Given the description of an element on the screen output the (x, y) to click on. 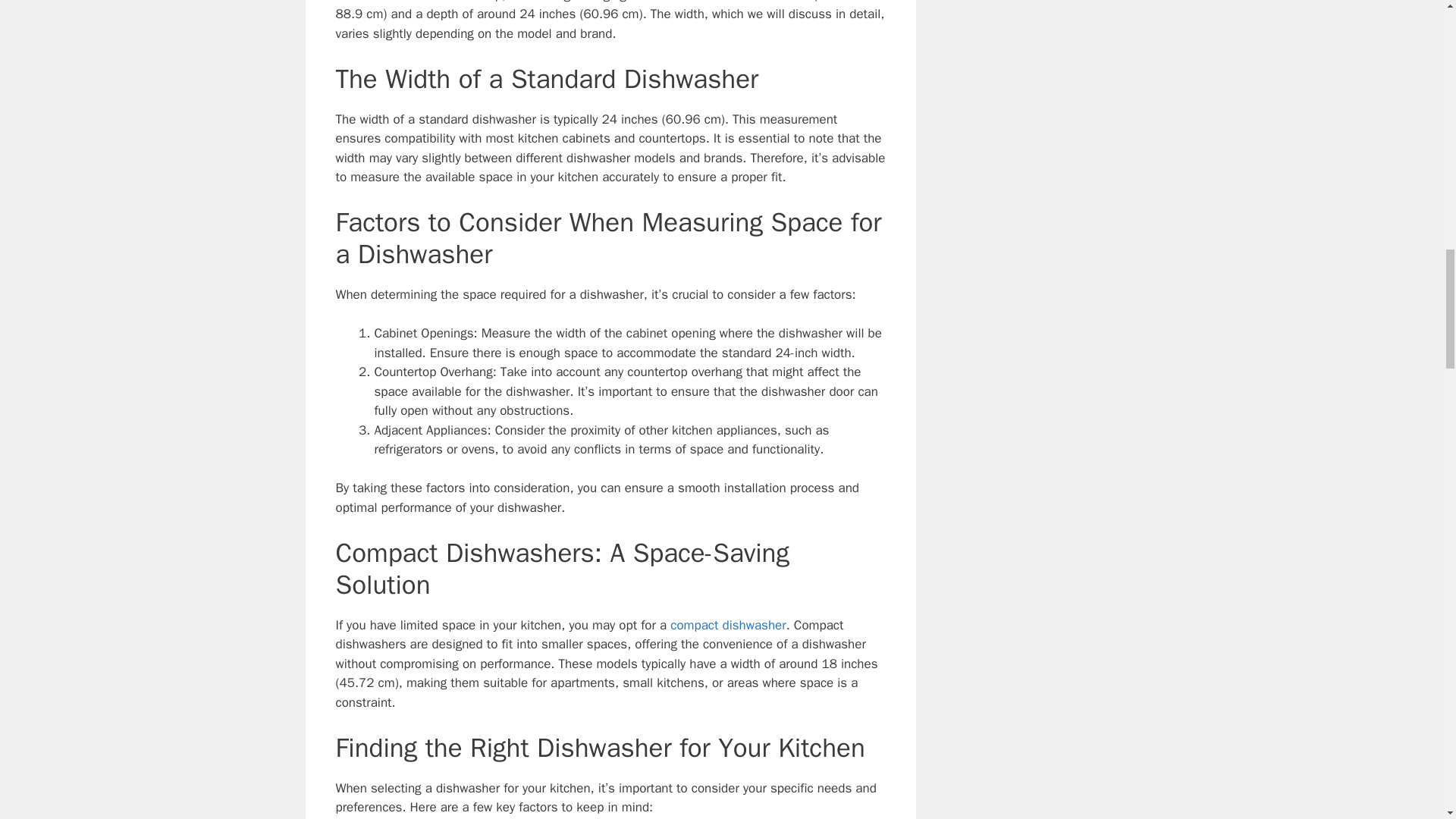
compact dishwasher (727, 625)
